Given the description of an element on the screen output the (x, y) to click on. 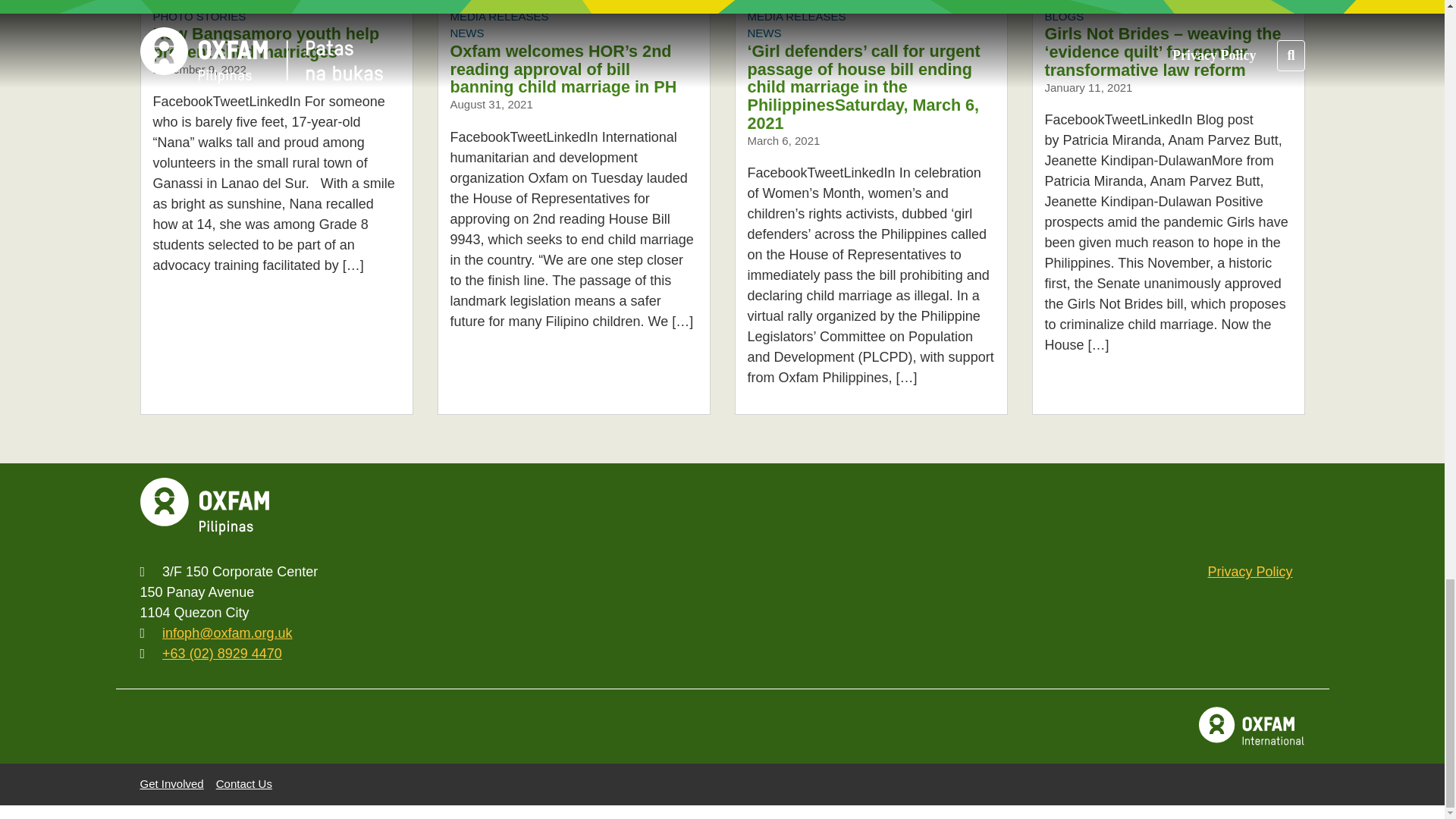
BLOGS (1064, 15)
Privacy Policy (1249, 571)
Oxfam Pilipinas Instagram account (1128, 506)
NEWS (466, 32)
home (203, 506)
Oxfam Pilipinas (203, 506)
NEWS (764, 32)
Oxfam Pilipinas Twitter page (1078, 506)
Get Involved (171, 783)
MEDIA RELEASES (796, 15)
